Given the description of an element on the screen output the (x, y) to click on. 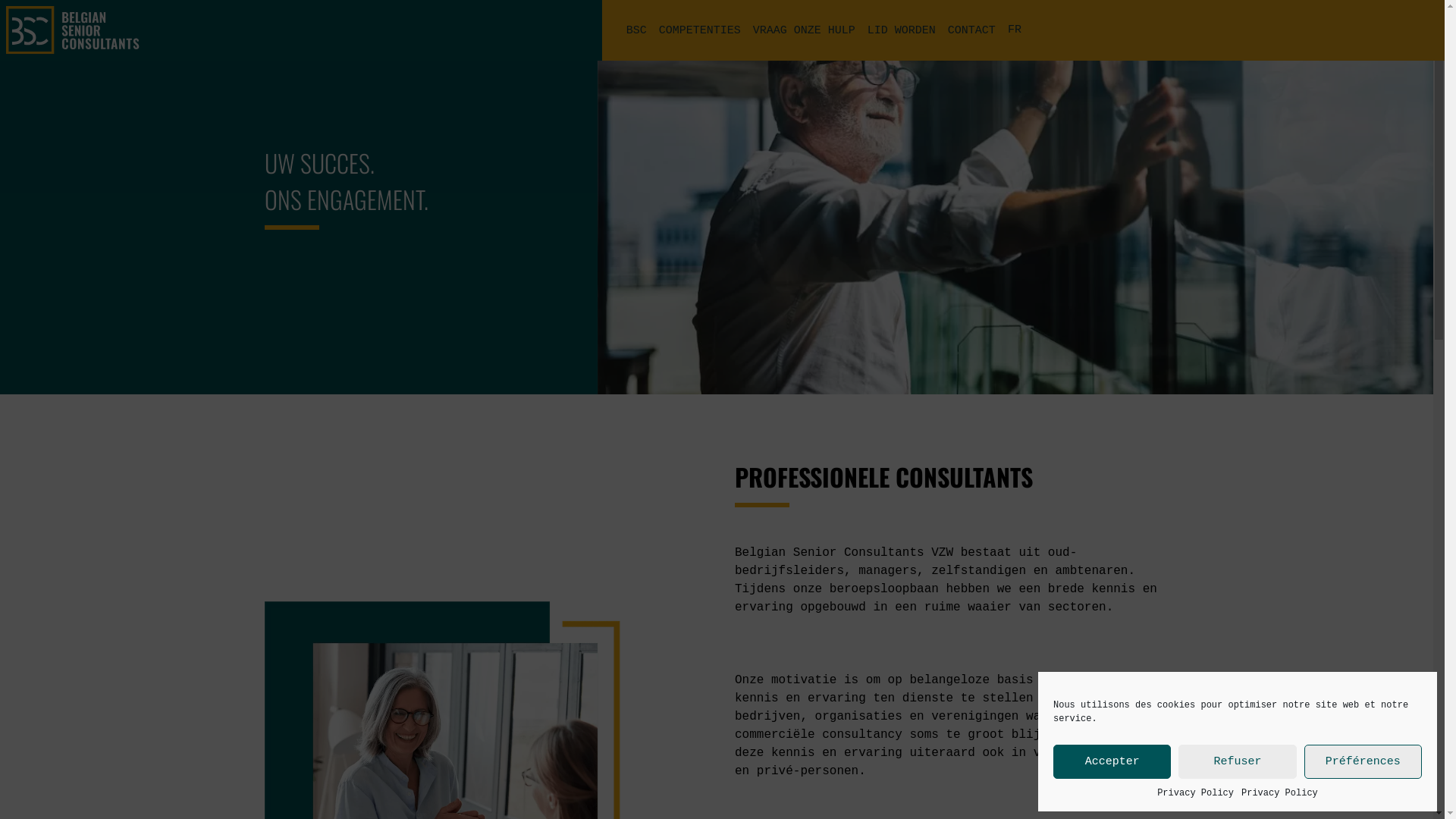
VRAAG ONZE HULP Element type: text (804, 30)
BSC Element type: text (636, 30)
CONTACT Element type: text (971, 30)
LID WORDEN Element type: text (901, 30)
Privacy Policy Element type: text (1279, 793)
Accepter Element type: text (1111, 761)
Privacy Policy Element type: text (1195, 793)
Refuser Element type: text (1236, 761)
COMPETENTIES Element type: text (699, 30)
FR Element type: text (1014, 30)
